Given the description of an element on the screen output the (x, y) to click on. 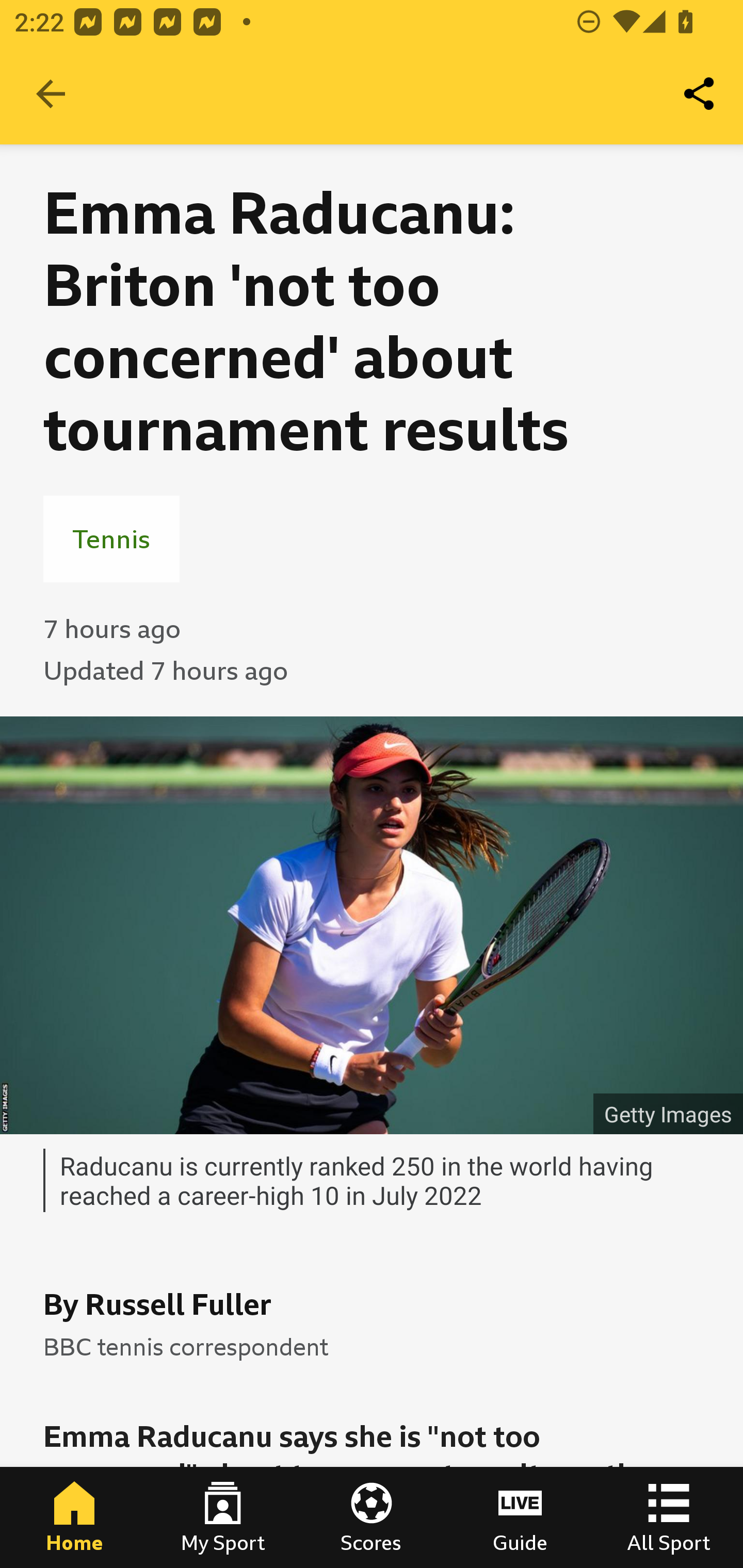
Navigate up (50, 93)
Share (699, 93)
Tennis (111, 538)
My Sport (222, 1517)
Scores (371, 1517)
Guide (519, 1517)
All Sport (668, 1517)
